Given the description of an element on the screen output the (x, y) to click on. 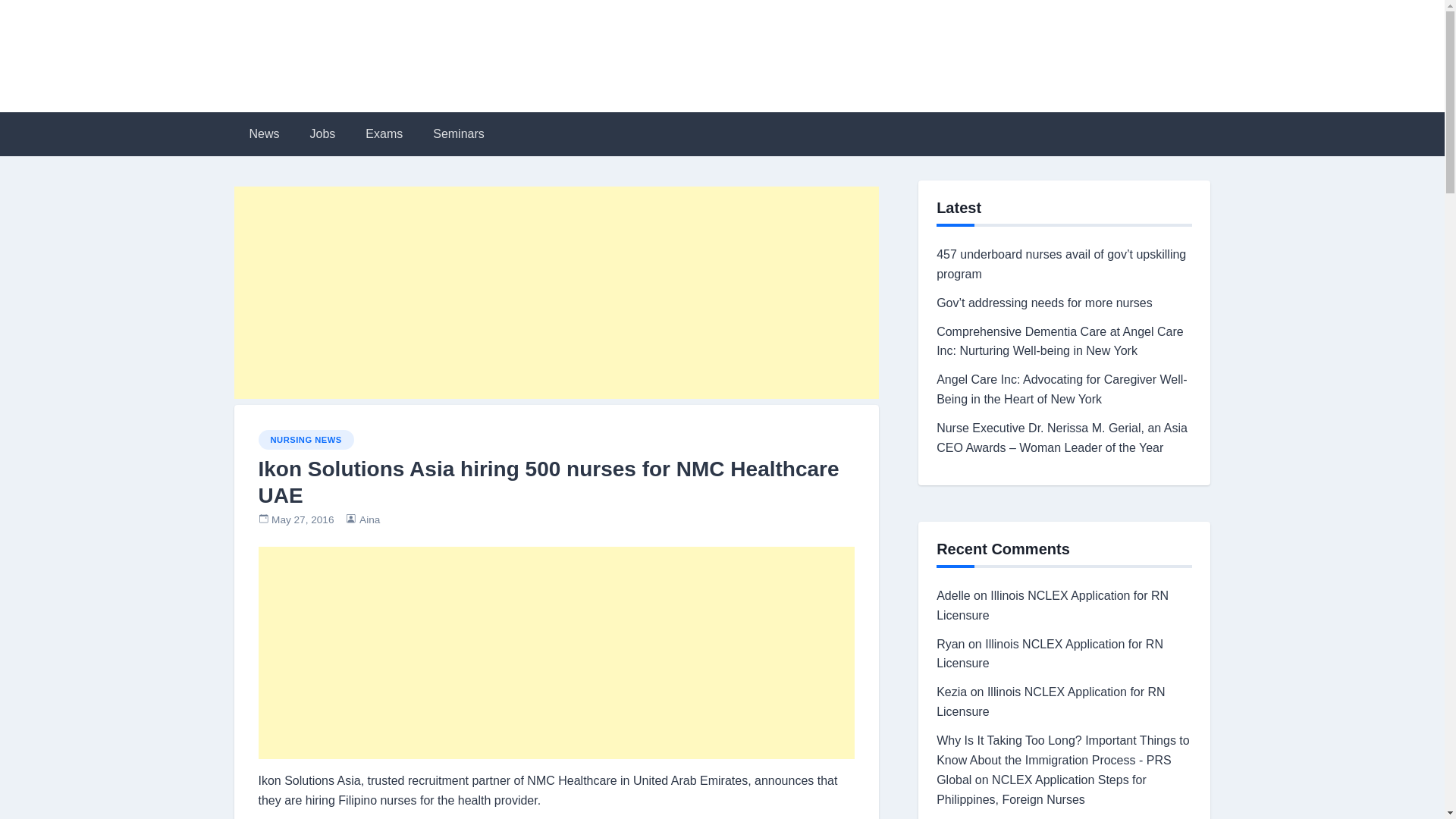
Advertisement (555, 653)
Exams (383, 134)
NCLEX Application Steps for Philippines, Foreign Nurses (1041, 789)
NURSING NEWS (305, 439)
May 27, 2016 (301, 519)
Seminars (458, 134)
news (263, 134)
Illinois NCLEX Application for RN Licensure (1050, 701)
jobs (322, 134)
Illinois NCLEX Application for RN Licensure (1052, 604)
News (263, 134)
Illinois NCLEX Application for RN Licensure (1049, 653)
